Given the description of an element on the screen output the (x, y) to click on. 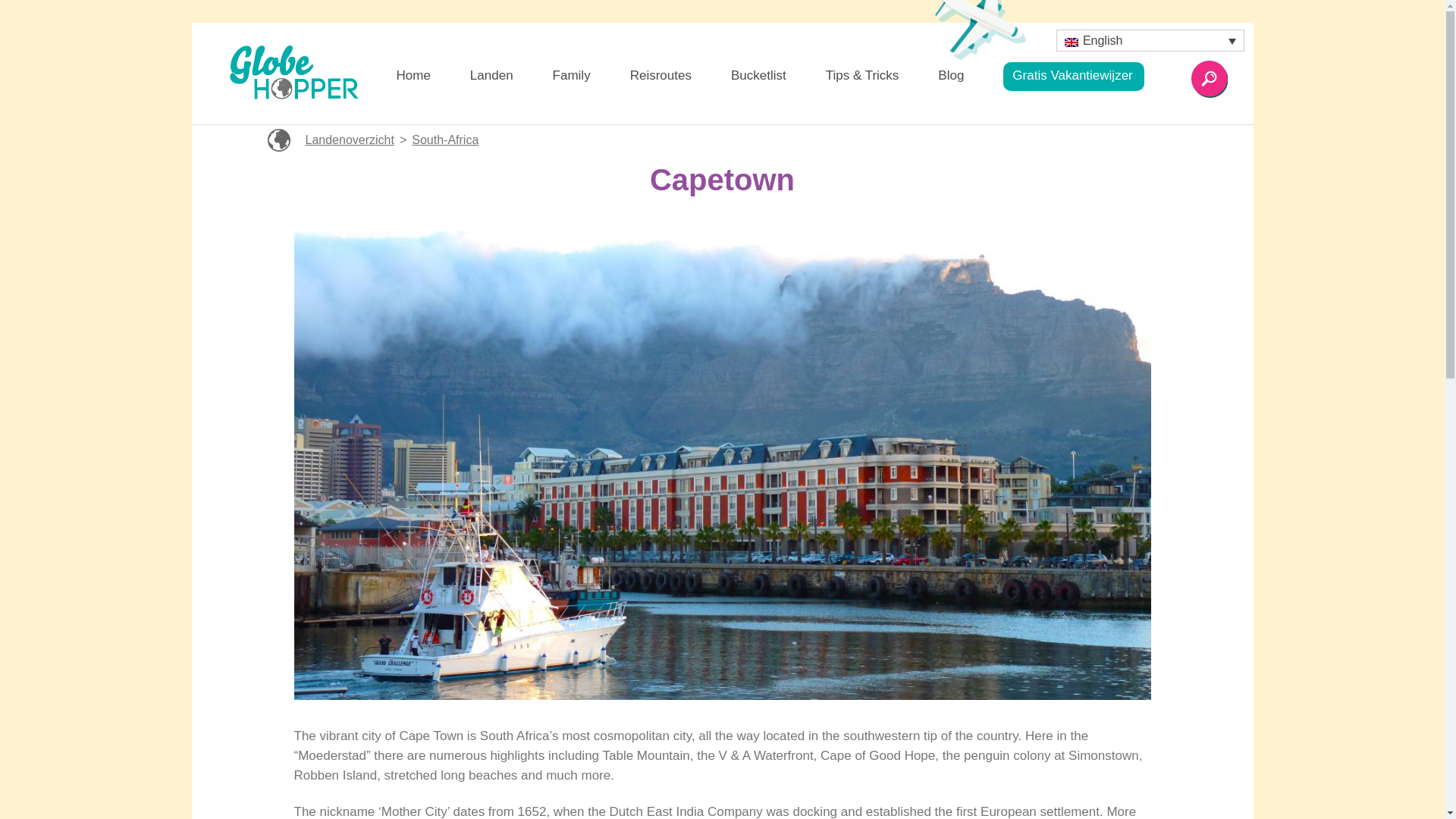
Home (412, 78)
Landen (491, 78)
